Given the description of an element on the screen output the (x, y) to click on. 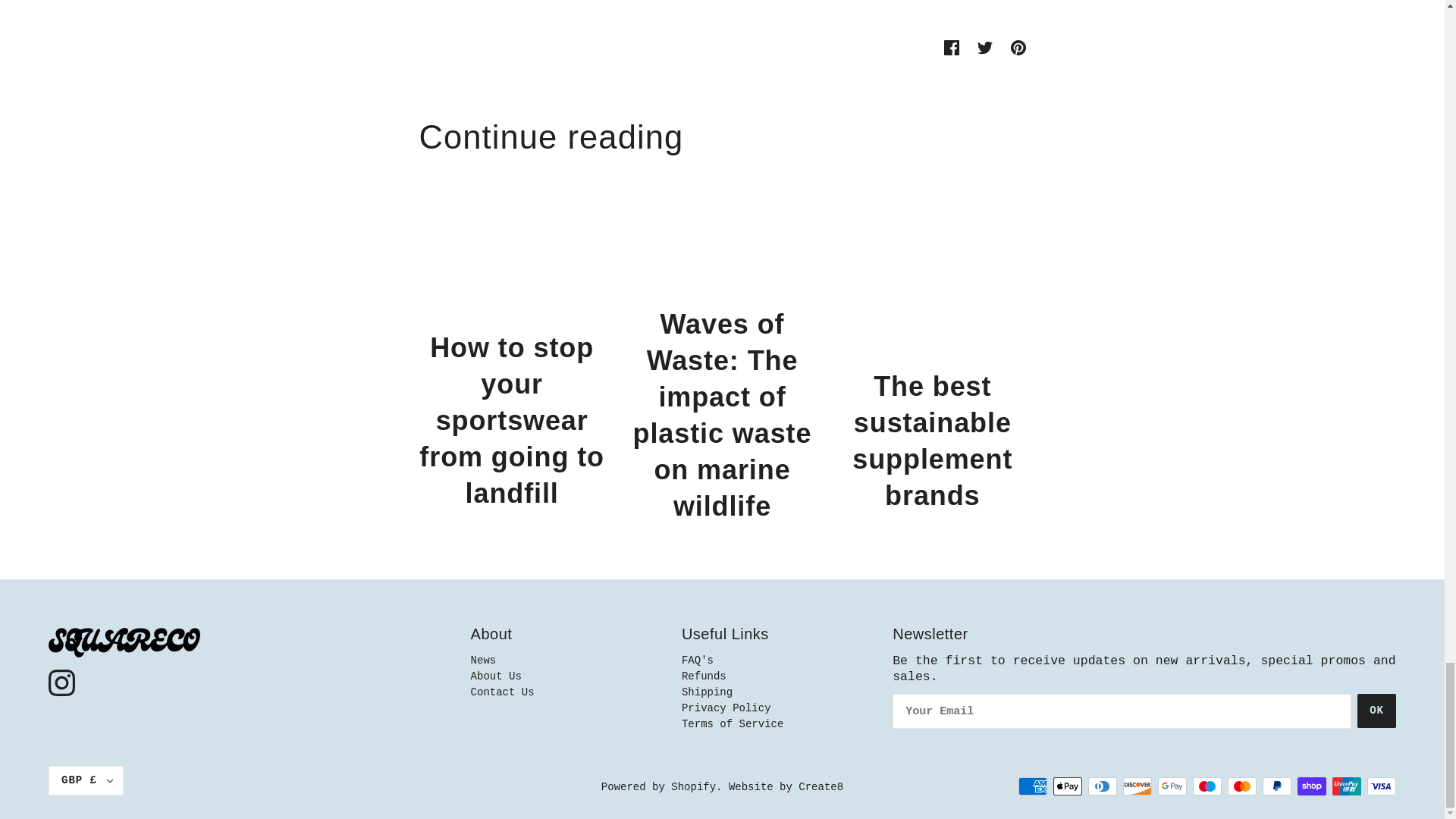
Contact Us (502, 692)
Diners Club (1101, 786)
Privacy Policy (726, 707)
Apple Pay (1066, 786)
PayPal (1276, 786)
Discover (1136, 786)
Shop Pay (1311, 786)
News (483, 660)
FAQ's (697, 660)
Mastercard (1241, 786)
